Given the description of an element on the screen output the (x, y) to click on. 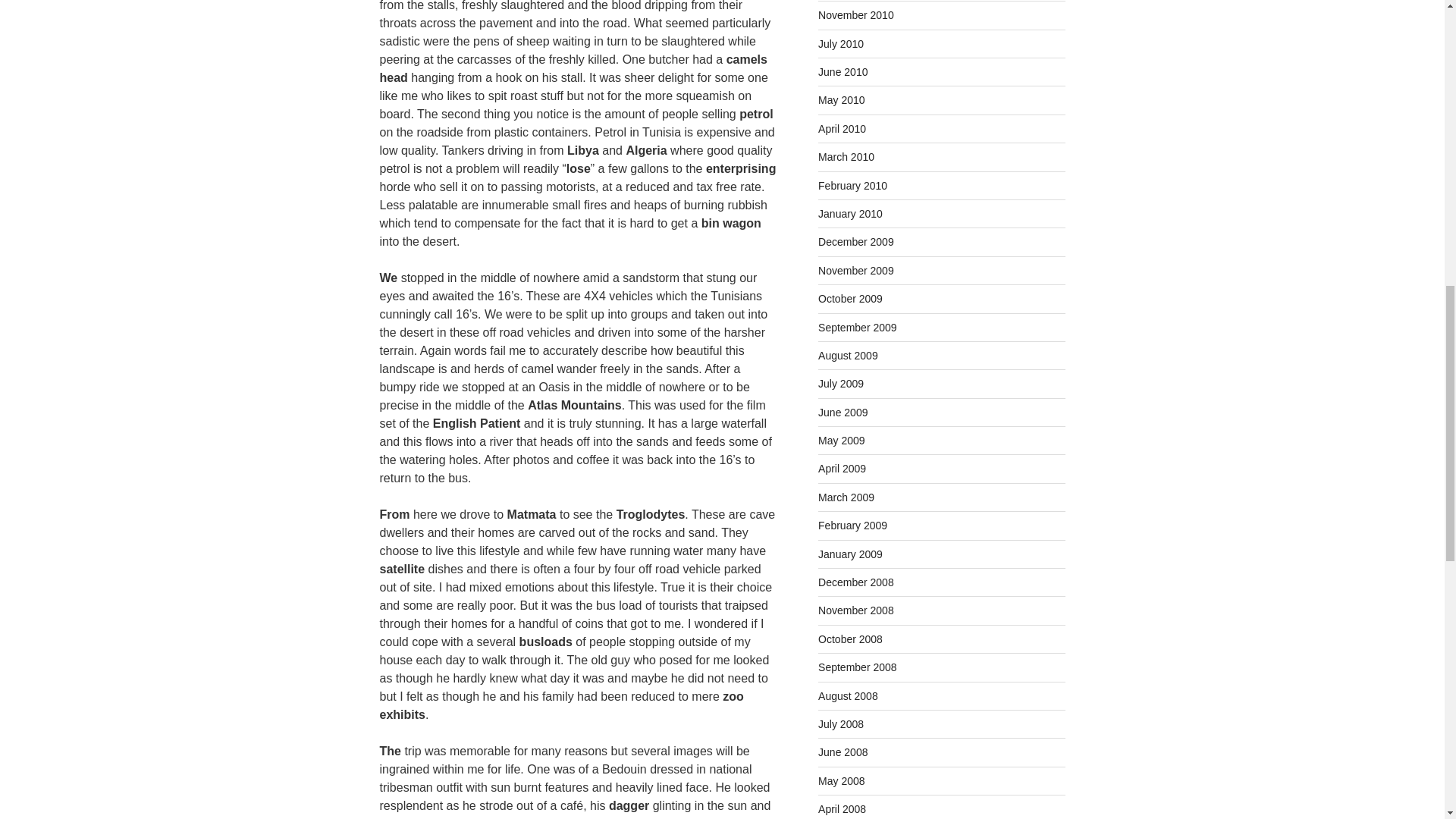
June 2010 (842, 71)
July 2010 (840, 43)
December 2009 (855, 241)
March 2010 (846, 156)
November 2010 (855, 15)
November 2009 (855, 270)
September 2009 (857, 327)
October 2009 (850, 298)
January 2010 (850, 214)
April 2010 (842, 128)
May 2010 (841, 100)
February 2010 (852, 185)
